Given the description of an element on the screen output the (x, y) to click on. 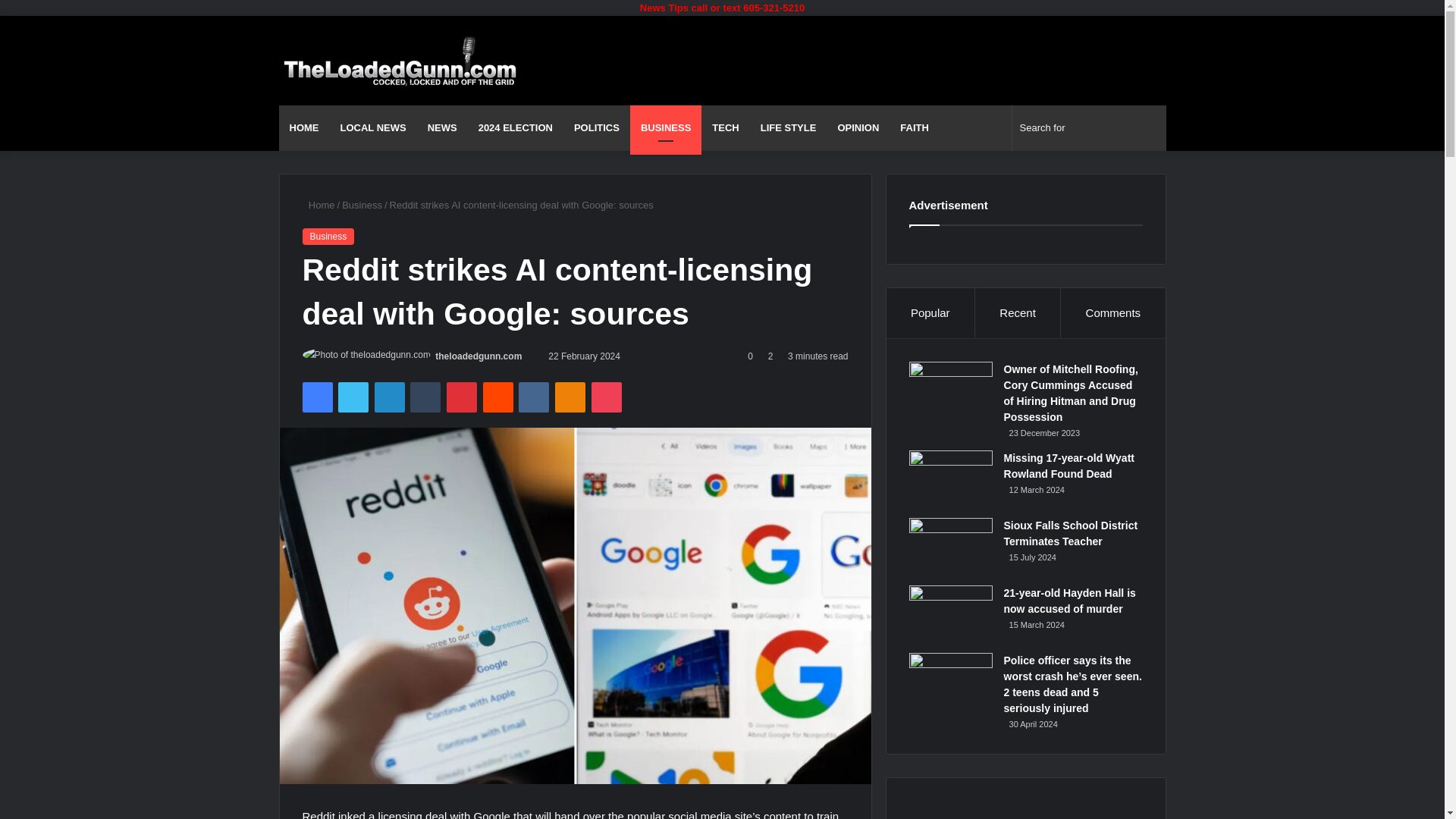
HOME (304, 127)
The Loaded Gunn (400, 60)
LIFE STYLE (788, 127)
VKontakte (533, 397)
Facebook (316, 397)
OPINION (858, 127)
VKontakte (533, 397)
Business (361, 204)
FAITH (914, 127)
Reddit (498, 397)
